Given the description of an element on the screen output the (x, y) to click on. 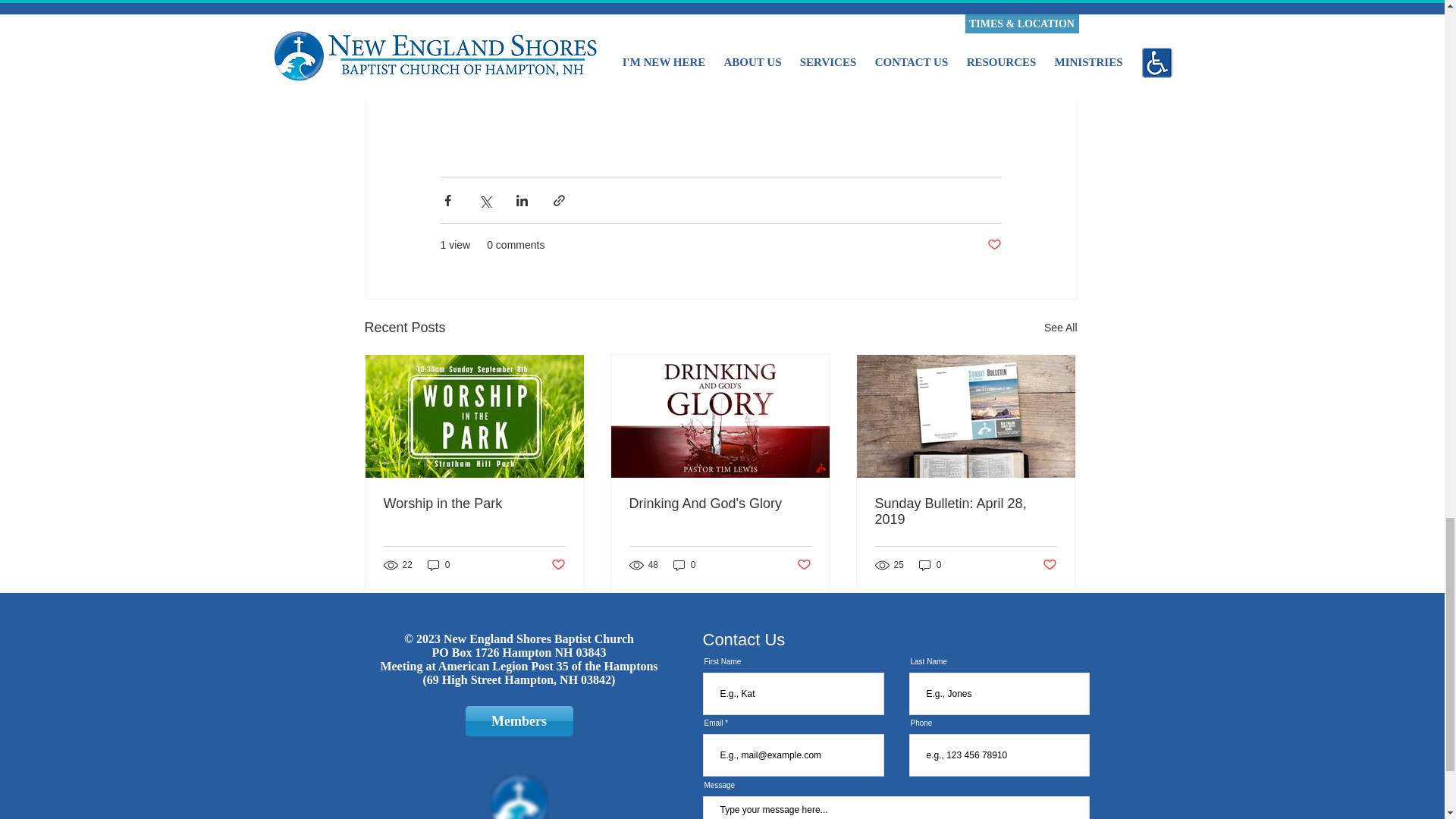
Drinking And God's Glory (719, 503)
Post not marked as liked (557, 565)
NESBC Logo Button.png (518, 796)
0 (684, 564)
Worship in the Park (475, 503)
Post not marked as liked (994, 245)
Post not marked as liked (803, 565)
0 (438, 564)
See All (1060, 327)
